Given the description of an element on the screen output the (x, y) to click on. 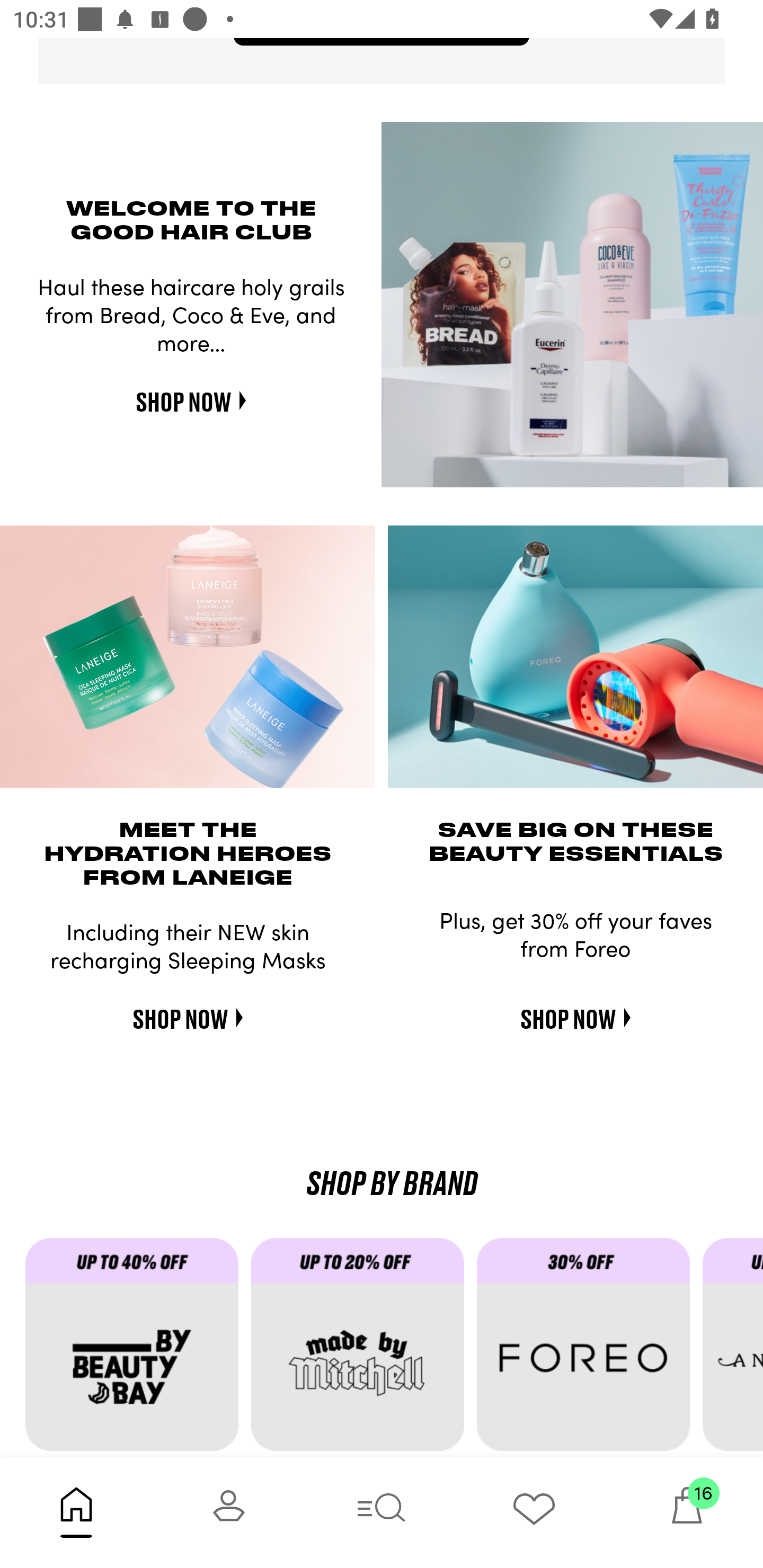
16 (686, 1512)
